Given the description of an element on the screen output the (x, y) to click on. 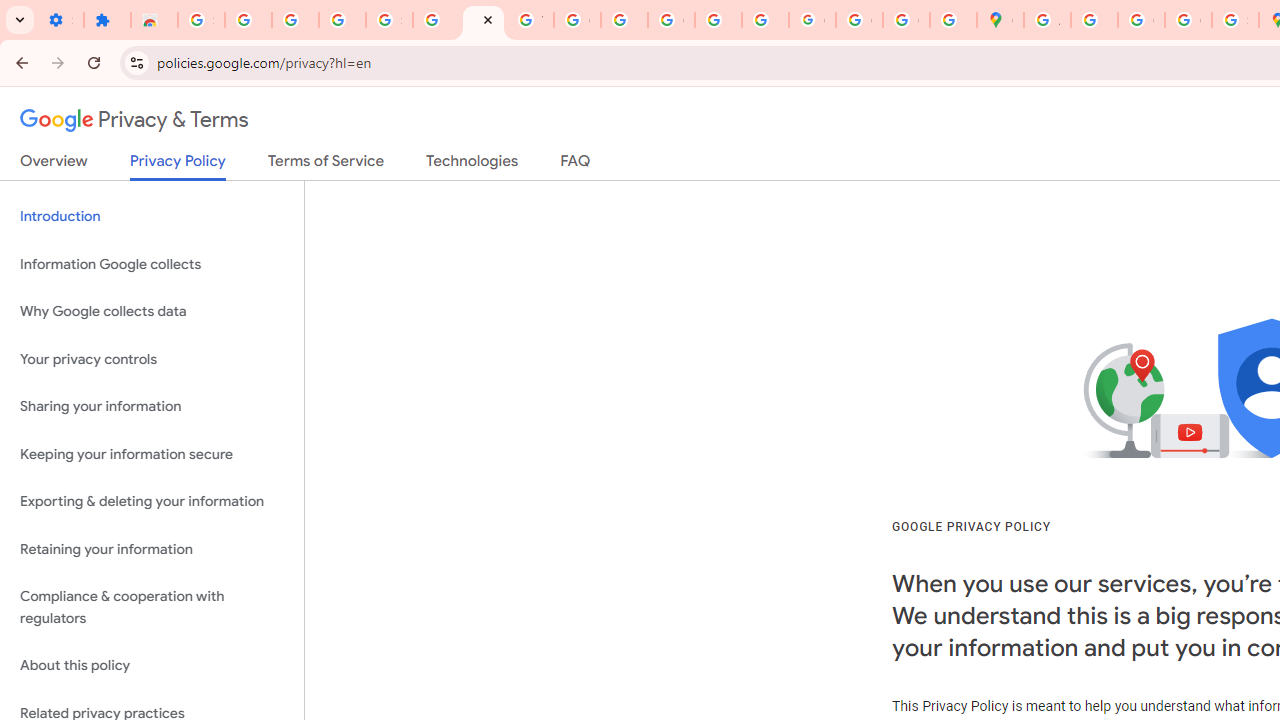
Settings - On startup (60, 20)
Exporting & deleting your information (152, 502)
https://scholar.google.com/ (623, 20)
Your privacy controls (152, 358)
Extensions (107, 20)
Delete photos & videos - Computer - Google Photos Help (248, 20)
